Given the description of an element on the screen output the (x, y) to click on. 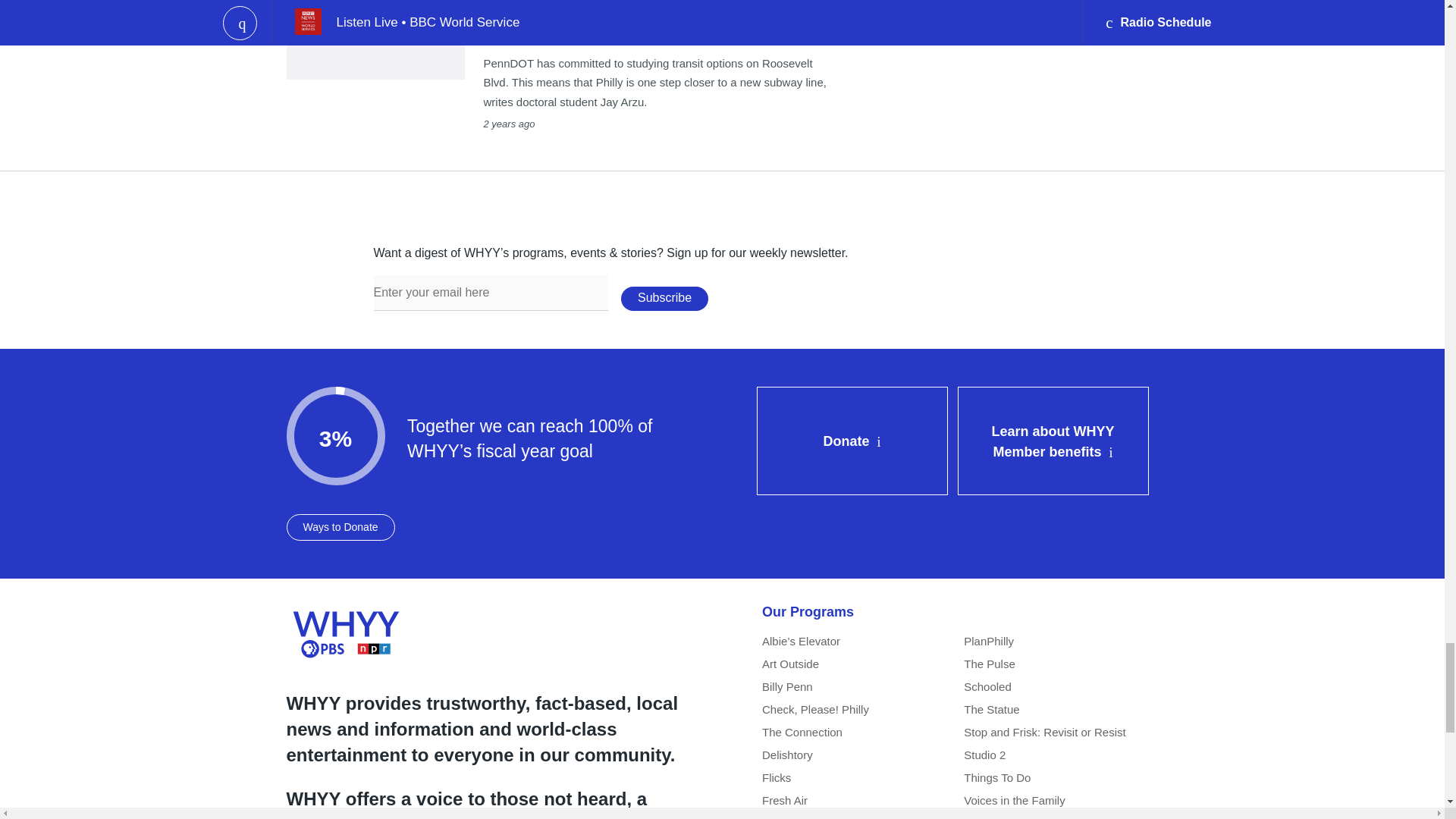
Subscribe (664, 298)
